Given the description of an element on the screen output the (x, y) to click on. 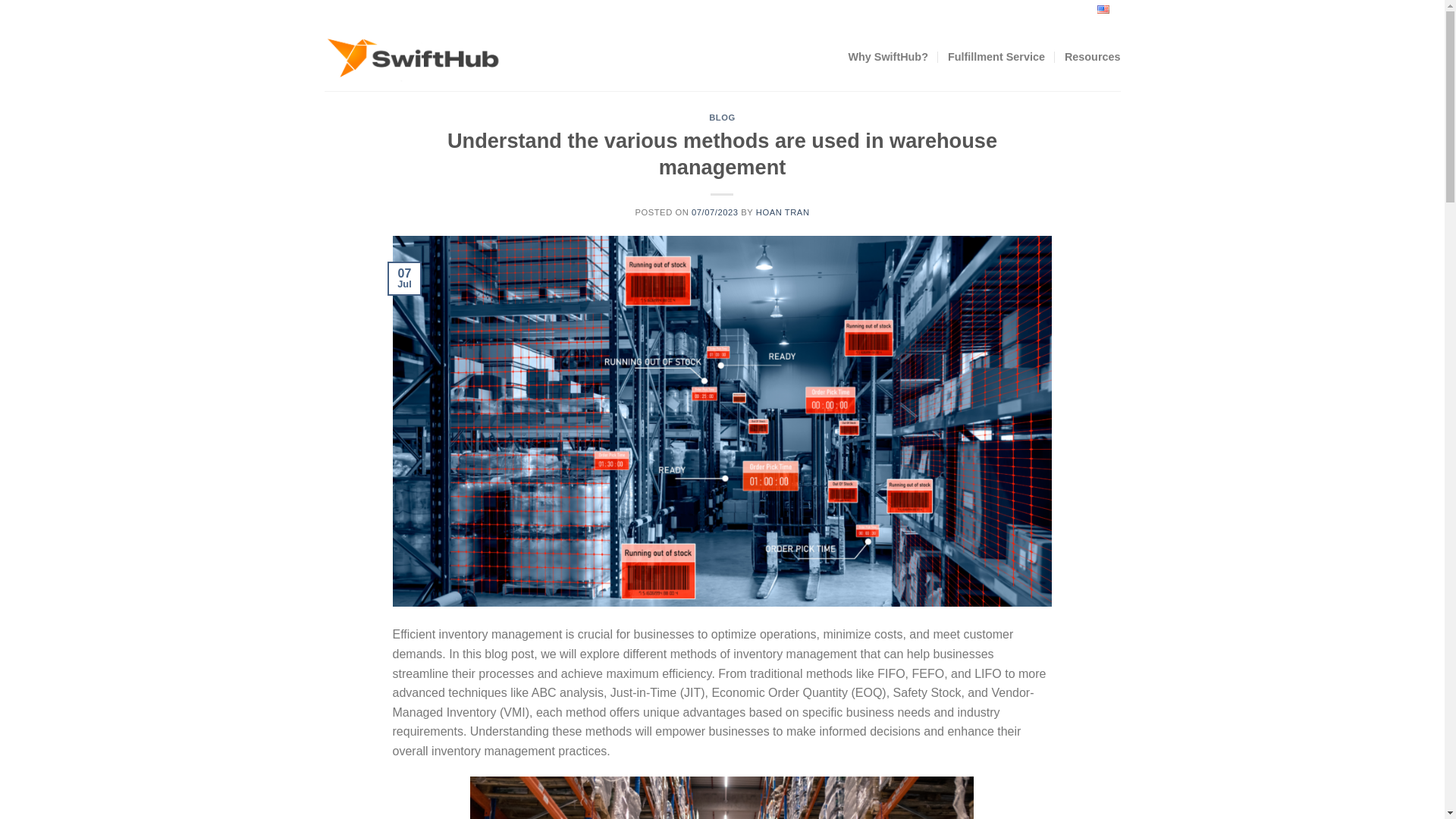
English (1090, 11)
Resources (1092, 56)
HOAN TRAN (782, 212)
BLOG (722, 117)
Why SwiftHub? (887, 56)
Fulfillment Service (996, 56)
